Given the description of an element on the screen output the (x, y) to click on. 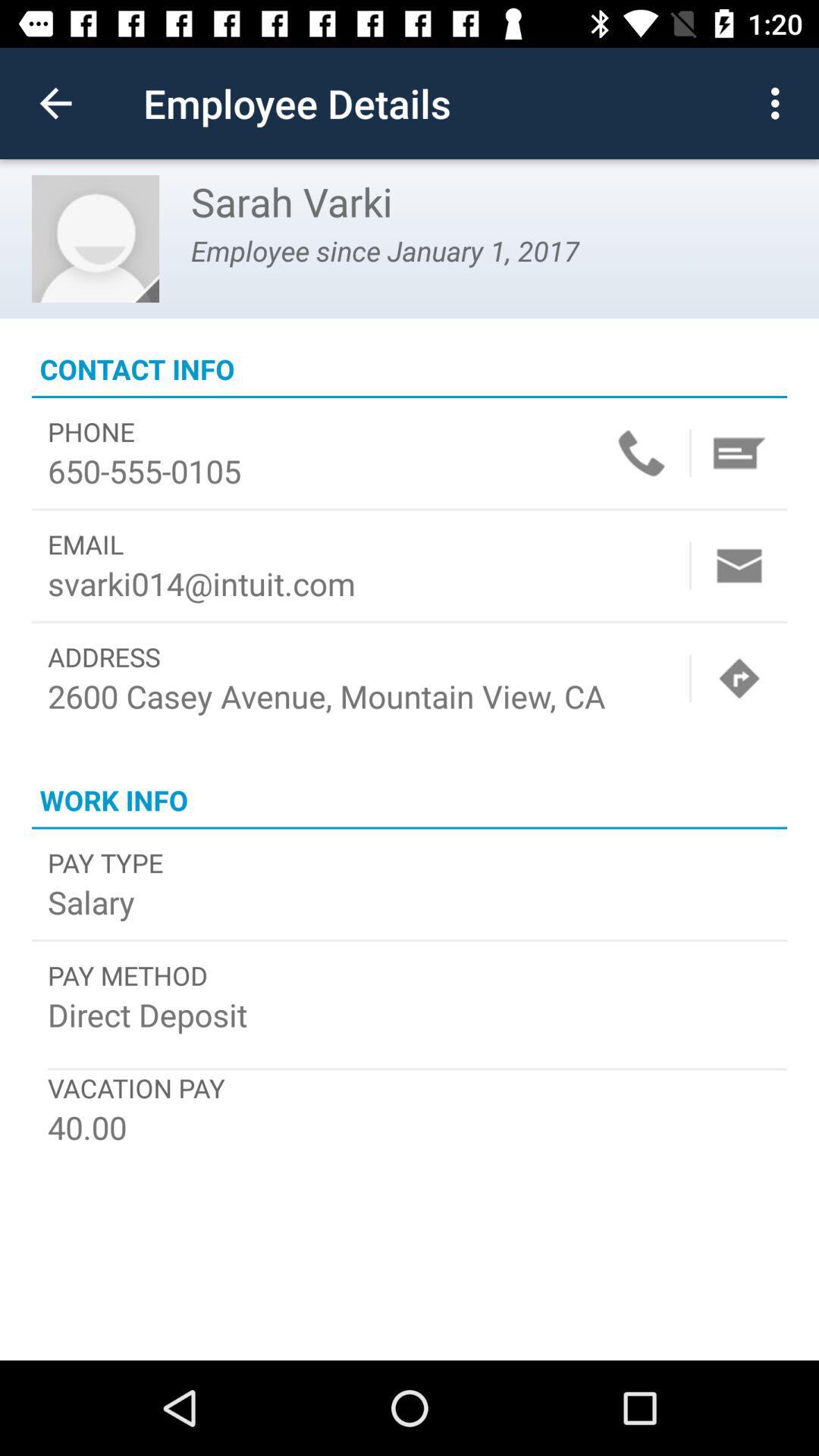
tap item to the left of sarah varki item (95, 238)
